Given the description of an element on the screen output the (x, y) to click on. 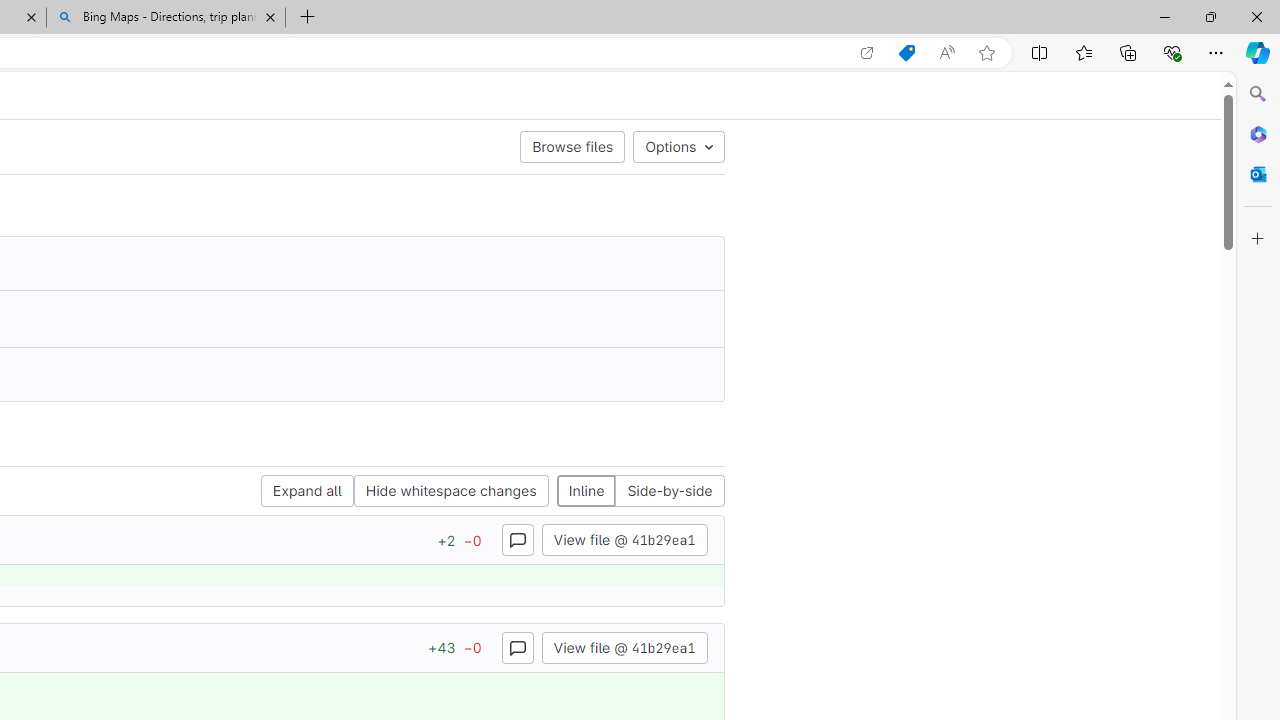
Open in app (867, 53)
Browse files (572, 146)
Class: s16 gl-icon gl-button-icon  (517, 647)
